Given the description of an element on the screen output the (x, y) to click on. 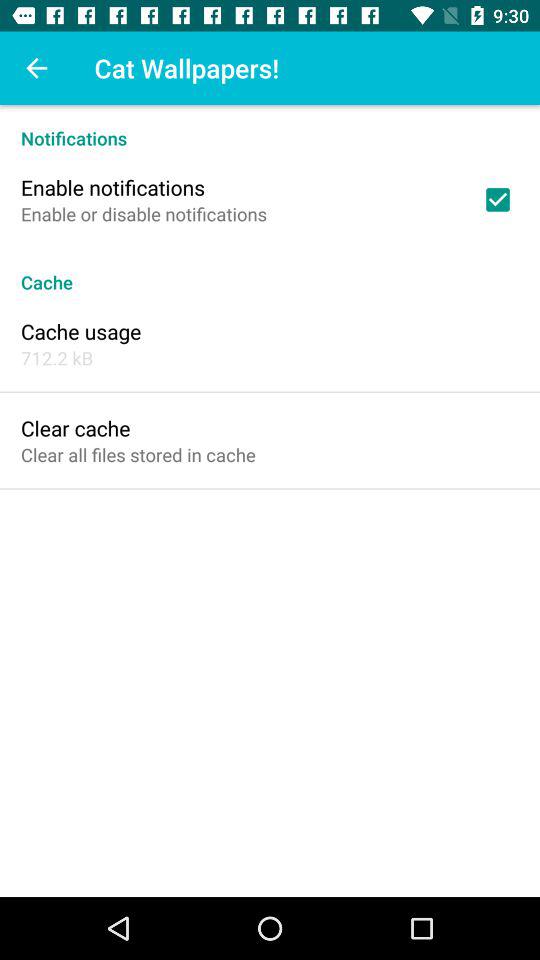
swipe to clear all files item (138, 454)
